Given the description of an element on the screen output the (x, y) to click on. 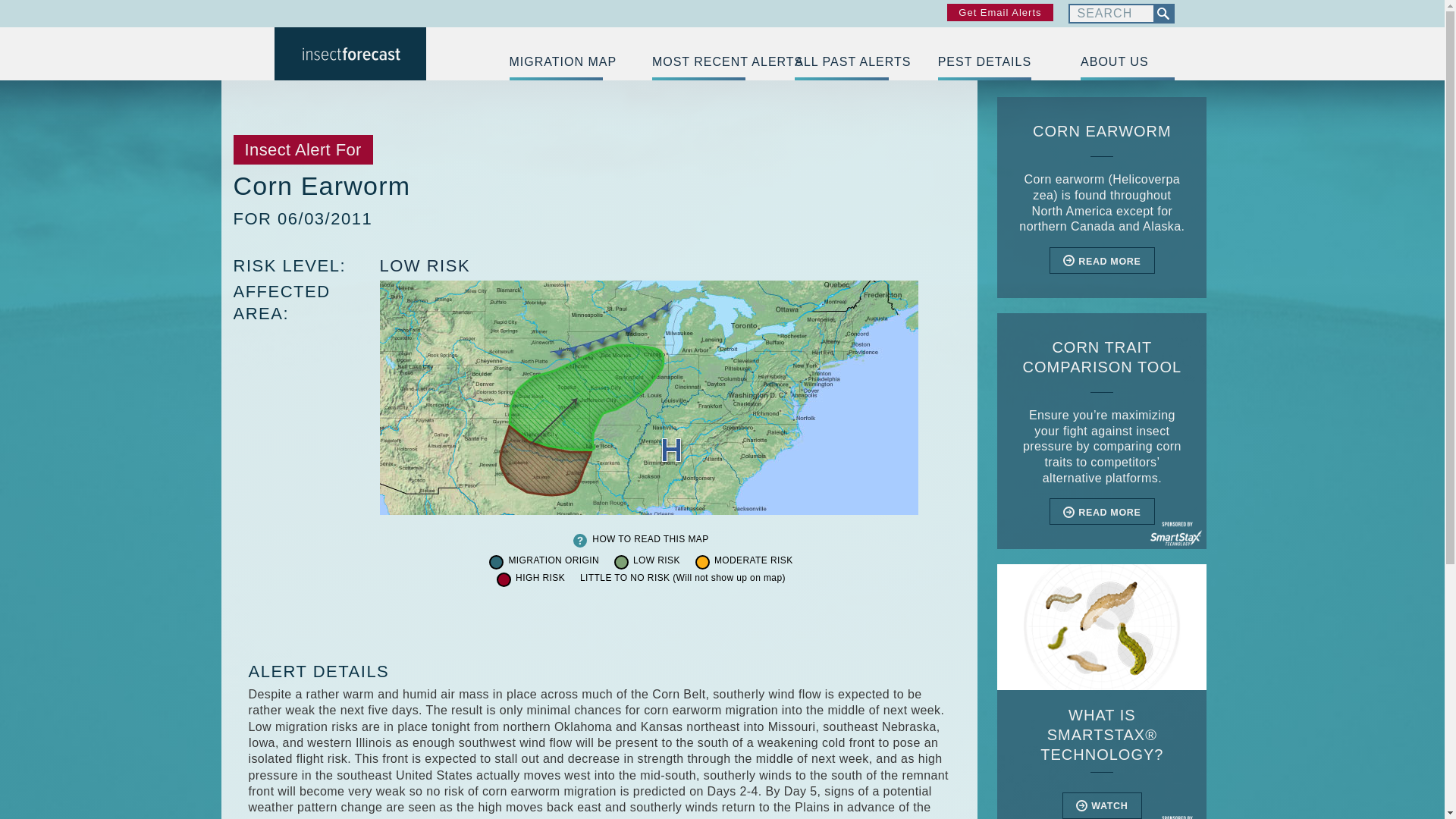
About Us (1126, 62)
ALL PAST ALERTS (841, 62)
PEST DETAILS (983, 62)
LOW RISK (656, 561)
HOW TO READ THIS MAP (649, 539)
HIGH RISK (539, 578)
LOW RISK (424, 265)
Get Email Alerts (999, 12)
Search (1110, 13)
MIGRATION MAP (555, 62)
MODERATE RISK (753, 561)
MOST RECENT ALERTS (698, 62)
ABOUT US (1126, 62)
MIGRATION ORIGIN (553, 561)
